Given the description of an element on the screen output the (x, y) to click on. 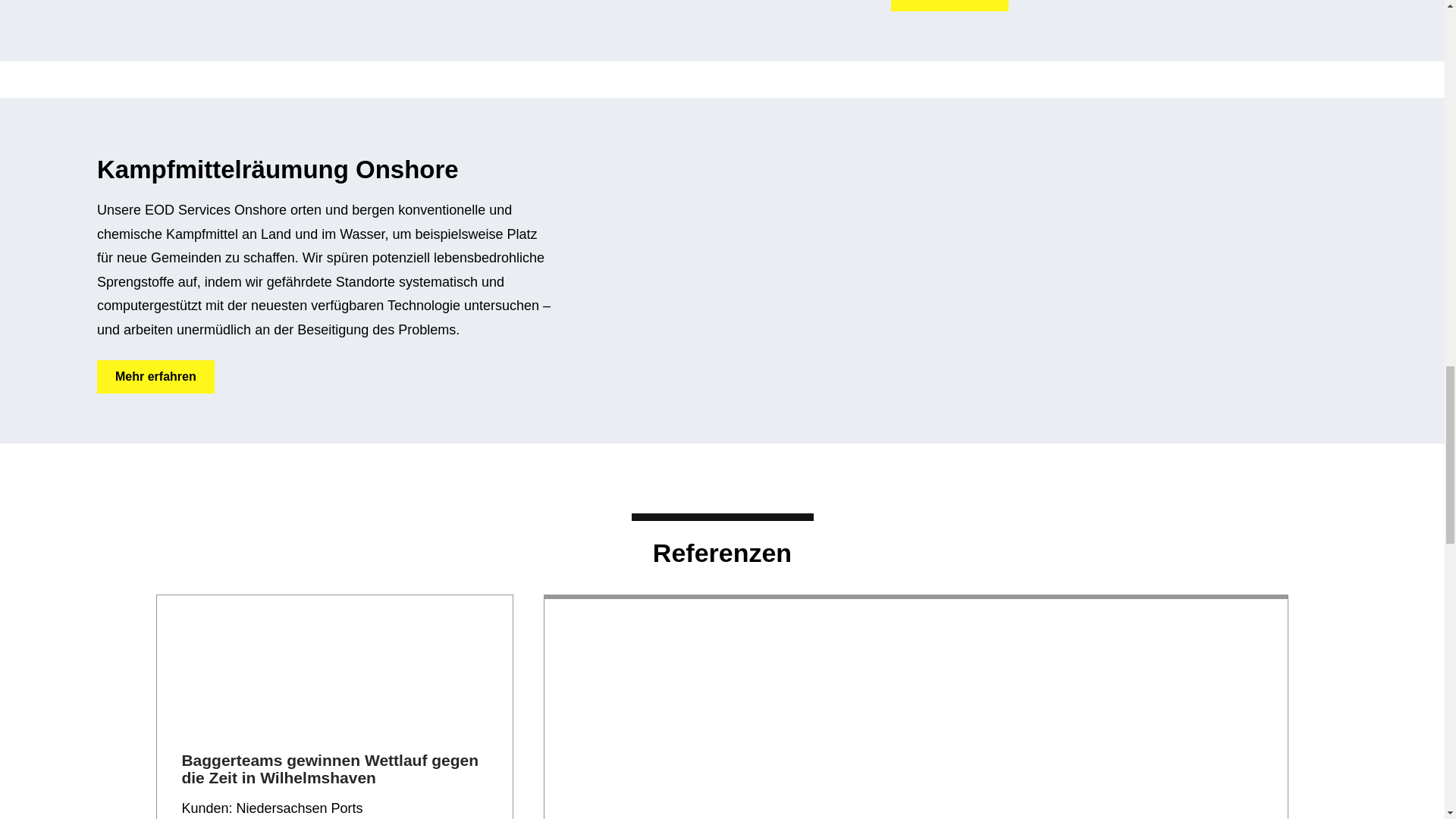
Mehr erfahren (950, 5)
Mehr erfahren (155, 376)
